Given the description of an element on the screen output the (x, y) to click on. 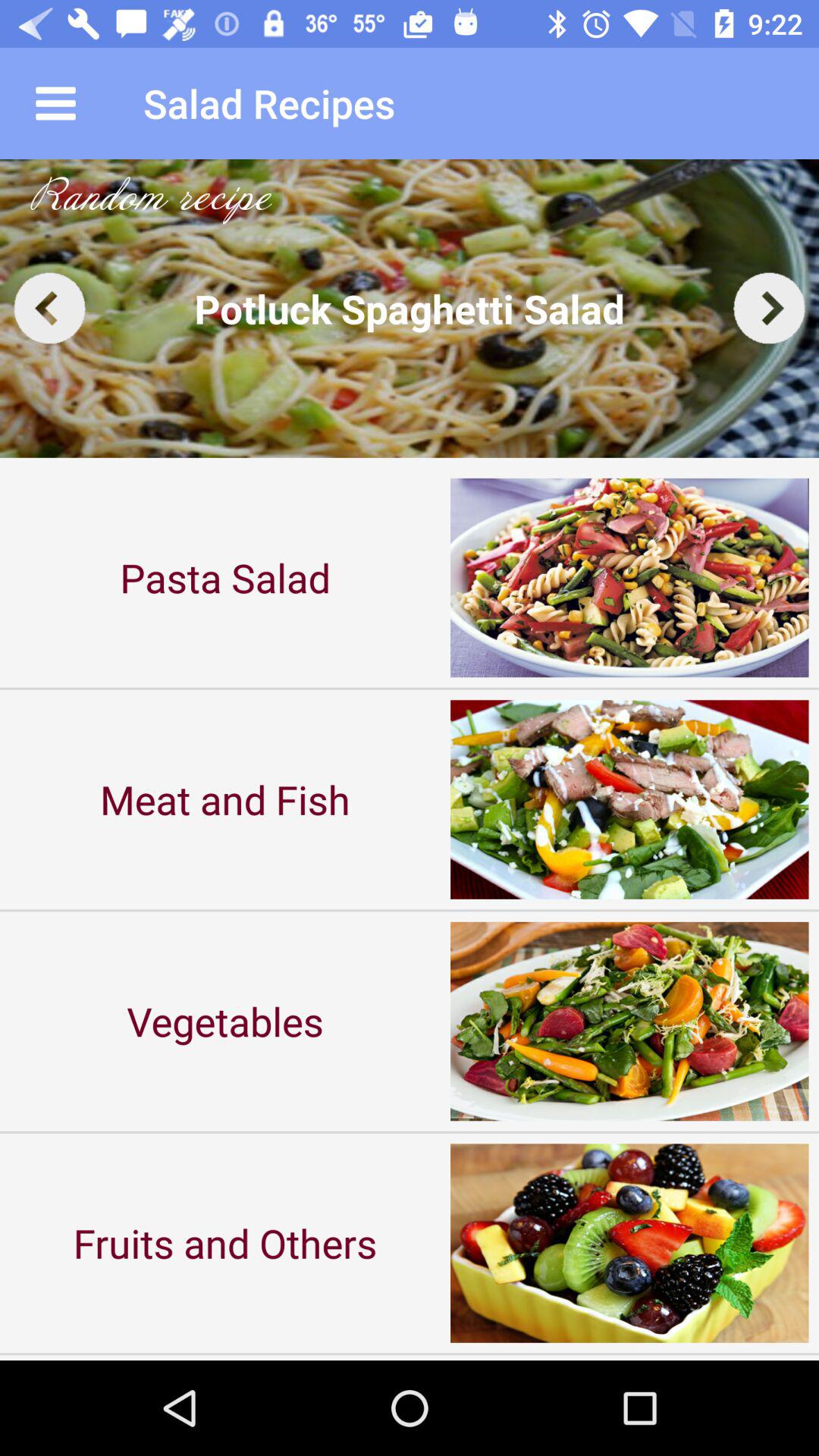
select the icon above meat and fish icon (225, 577)
